Given the description of an element on the screen output the (x, y) to click on. 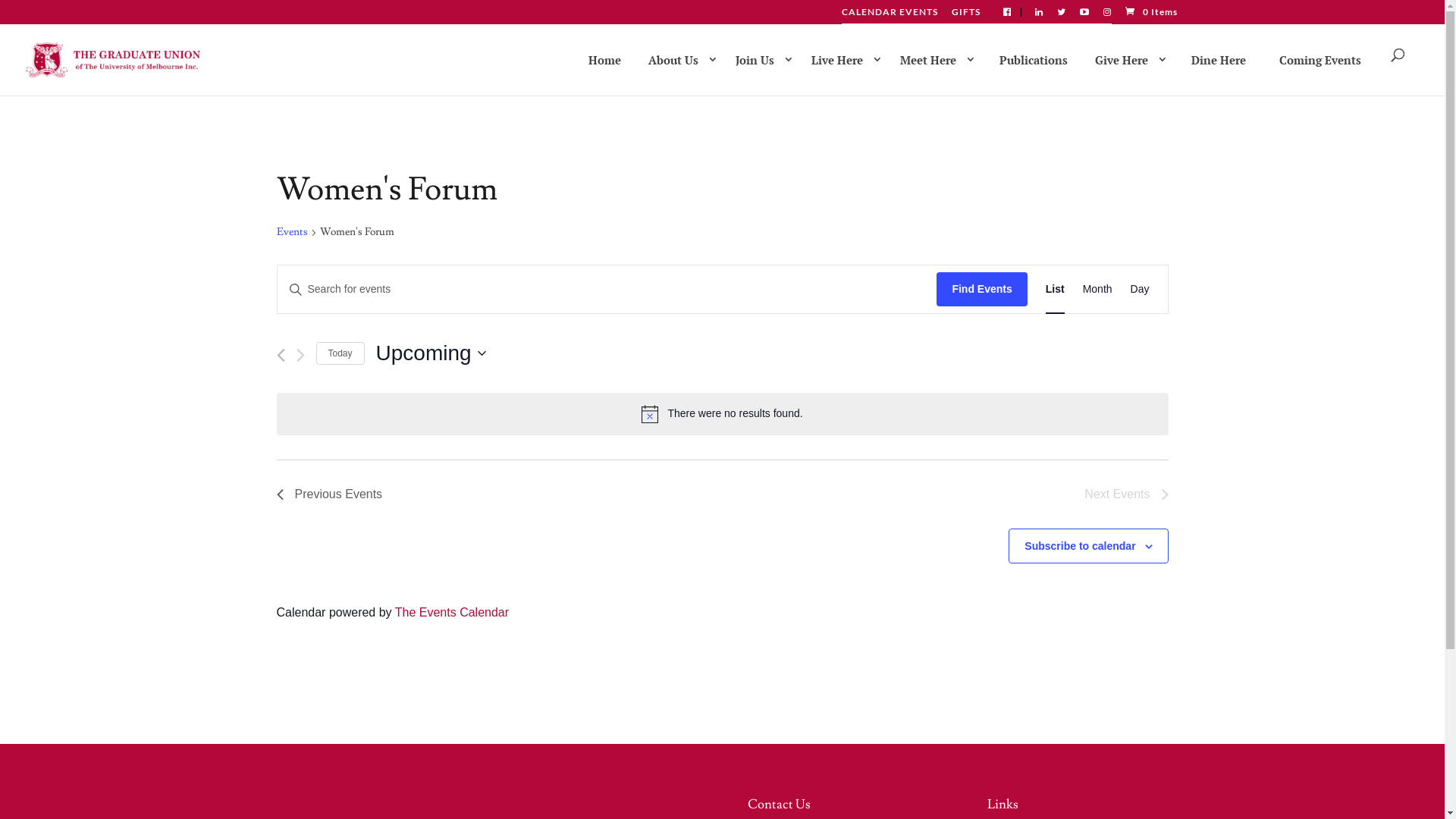
Live Here Element type: text (843, 59)
Coming Events Element type: text (1320, 59)
0 Items Element type: text (1149, 11)
Publications Element type: text (1033, 59)
Subscribe to calendar Element type: text (1079, 545)
Give Here Element type: text (1127, 59)
The Events Calendar Element type: text (451, 612)
List Element type: text (1054, 289)
Day Element type: text (1139, 289)
Today Element type: text (339, 353)
CALENDAR EVENTS Element type: text (889, 15)
Meet Here Element type: text (934, 59)
Previous Events Element type: text (329, 494)
Upcoming Element type: text (431, 353)
Dine Here Element type: text (1218, 59)
Join Us Element type: text (760, 59)
Next Events Element type: hover (299, 355)
Next Events Element type: text (1125, 494)
Find Events Element type: text (981, 289)
Previous Events Element type: hover (280, 355)
Events Element type: text (291, 233)
Month Element type: text (1097, 289)
GIFTS Element type: text (964, 15)
Home Element type: text (604, 59)
About Us Element type: text (679, 59)
